Given the description of an element on the screen output the (x, y) to click on. 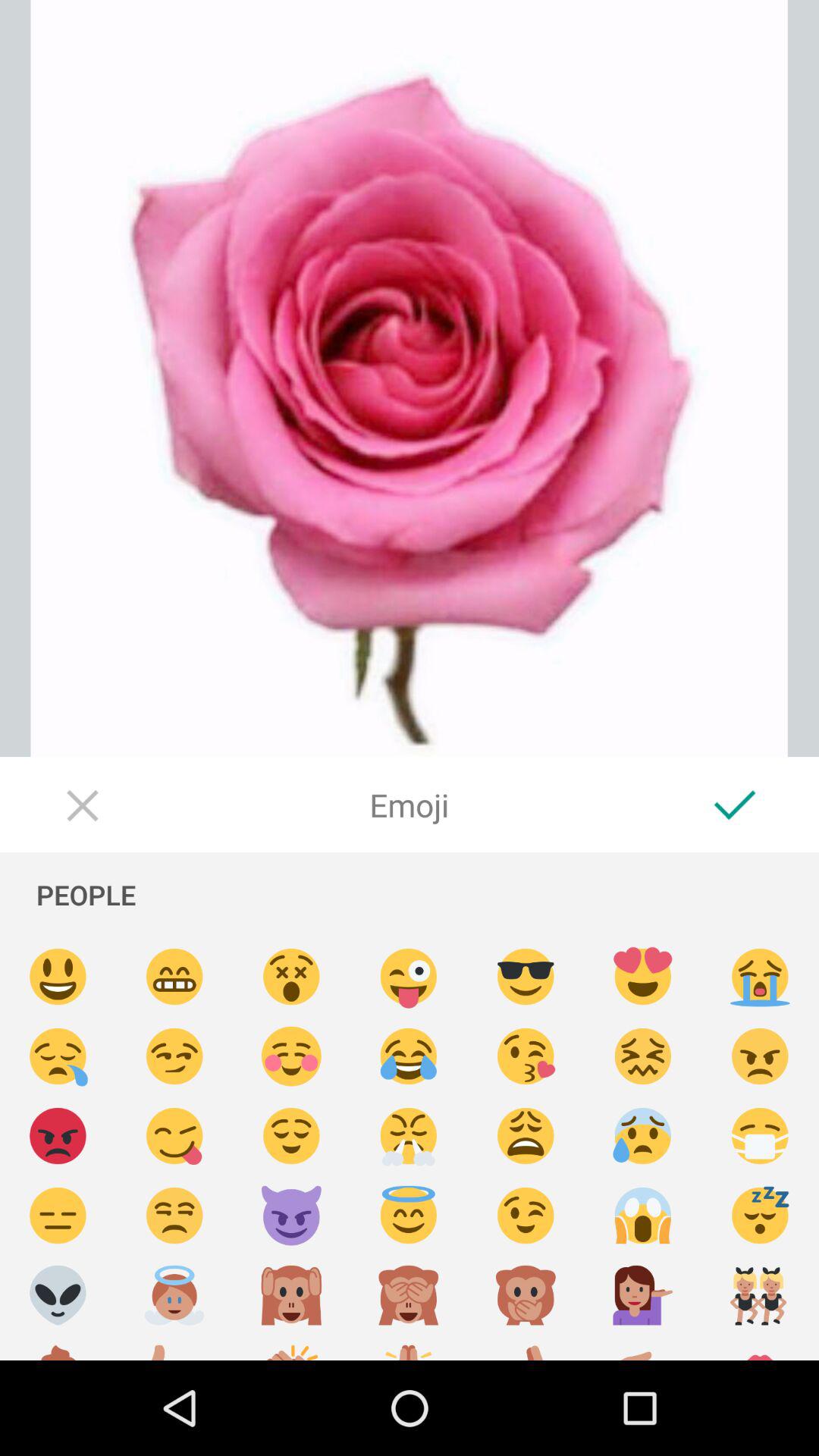
select emoji (174, 1056)
